Given the description of an element on the screen output the (x, y) to click on. 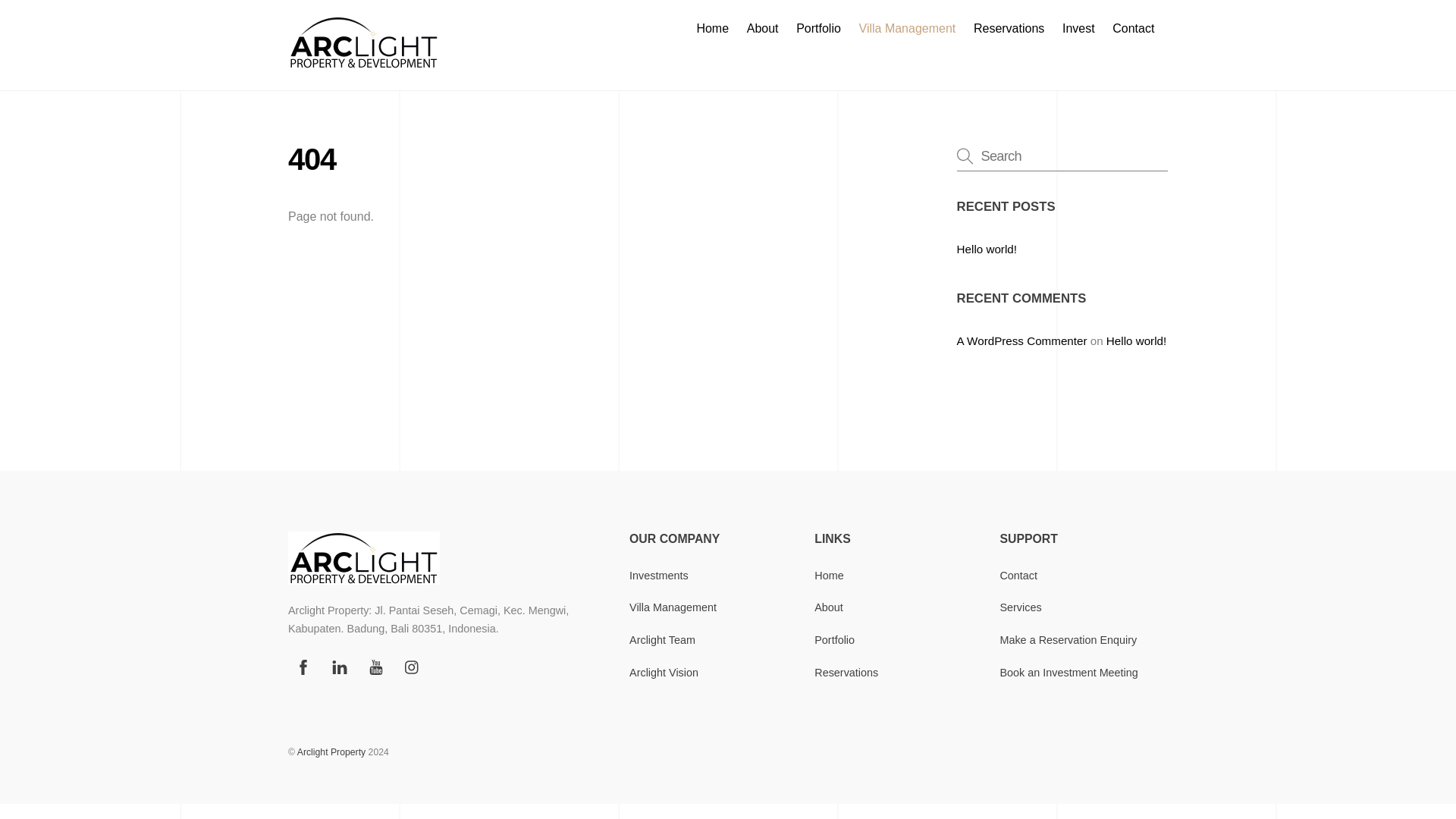
A WordPress Commenter (1021, 340)
Hello world! (986, 248)
About (762, 28)
Services (1019, 607)
Arclight Team (661, 639)
Arclight Vision (663, 672)
Reservations (845, 672)
Book an Investment Meeting (1067, 672)
Portfolio (818, 28)
Contact (1133, 28)
